Given the description of an element on the screen output the (x, y) to click on. 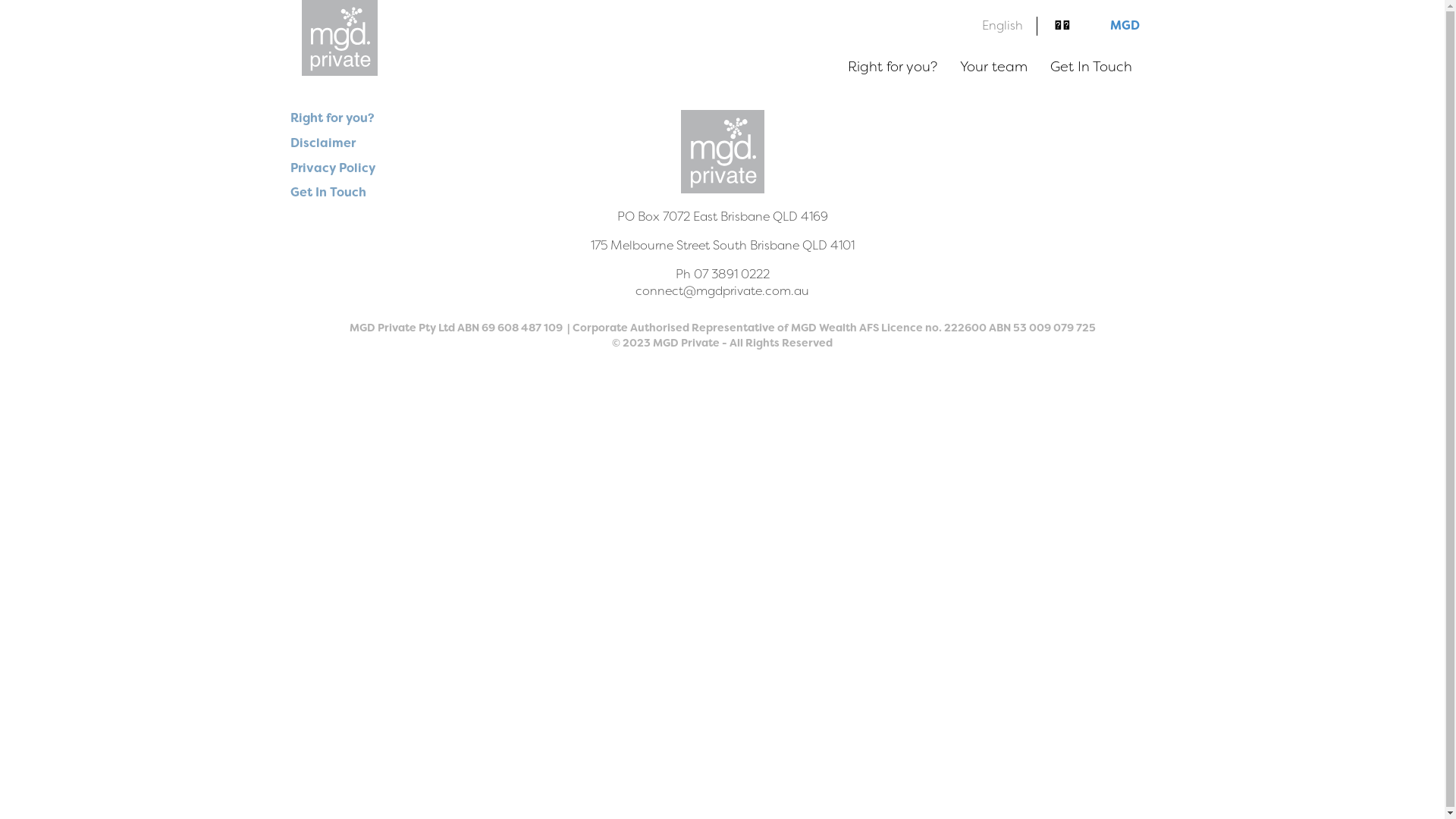
connect@mgdprivate.com.au Element type: text (722, 290)
English Element type: text (1002, 25)
Right for you? Element type: text (891, 66)
Get In Touch Element type: text (327, 192)
Your team Element type: text (992, 66)
Get In Touch Element type: text (1090, 66)
MGD Element type: text (1124, 25)
Right for you? Element type: text (331, 117)
Privacy Policy Element type: text (331, 167)
Disclaimer Element type: text (321, 142)
07 3891 0222 Element type: text (730, 274)
